Given the description of an element on the screen output the (x, y) to click on. 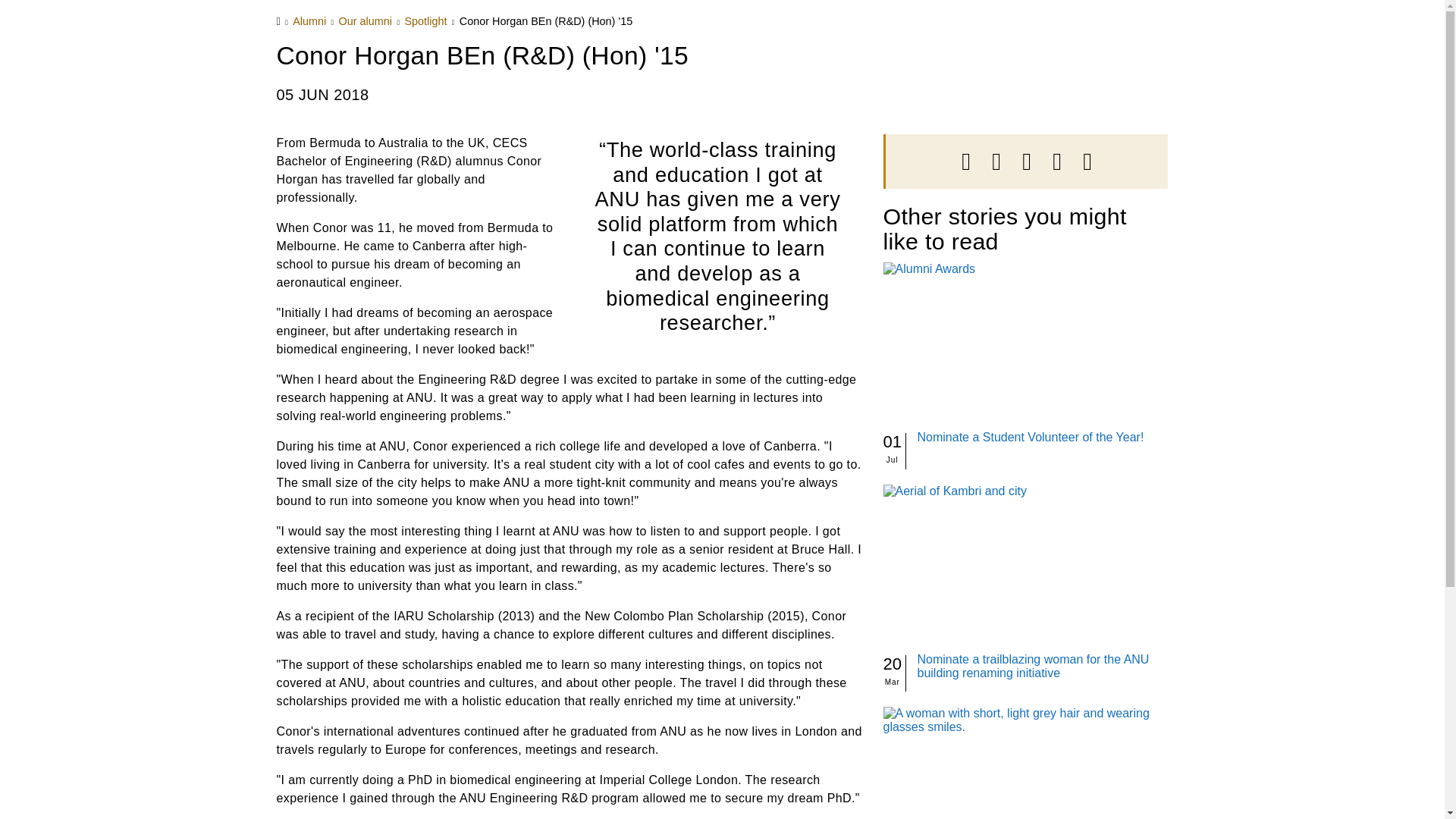
Our alumni (365, 21)
Alumni (309, 21)
Spotlight (425, 21)
Nominate a Student Volunteer of the Year! (1030, 436)
